Given the description of an element on the screen output the (x, y) to click on. 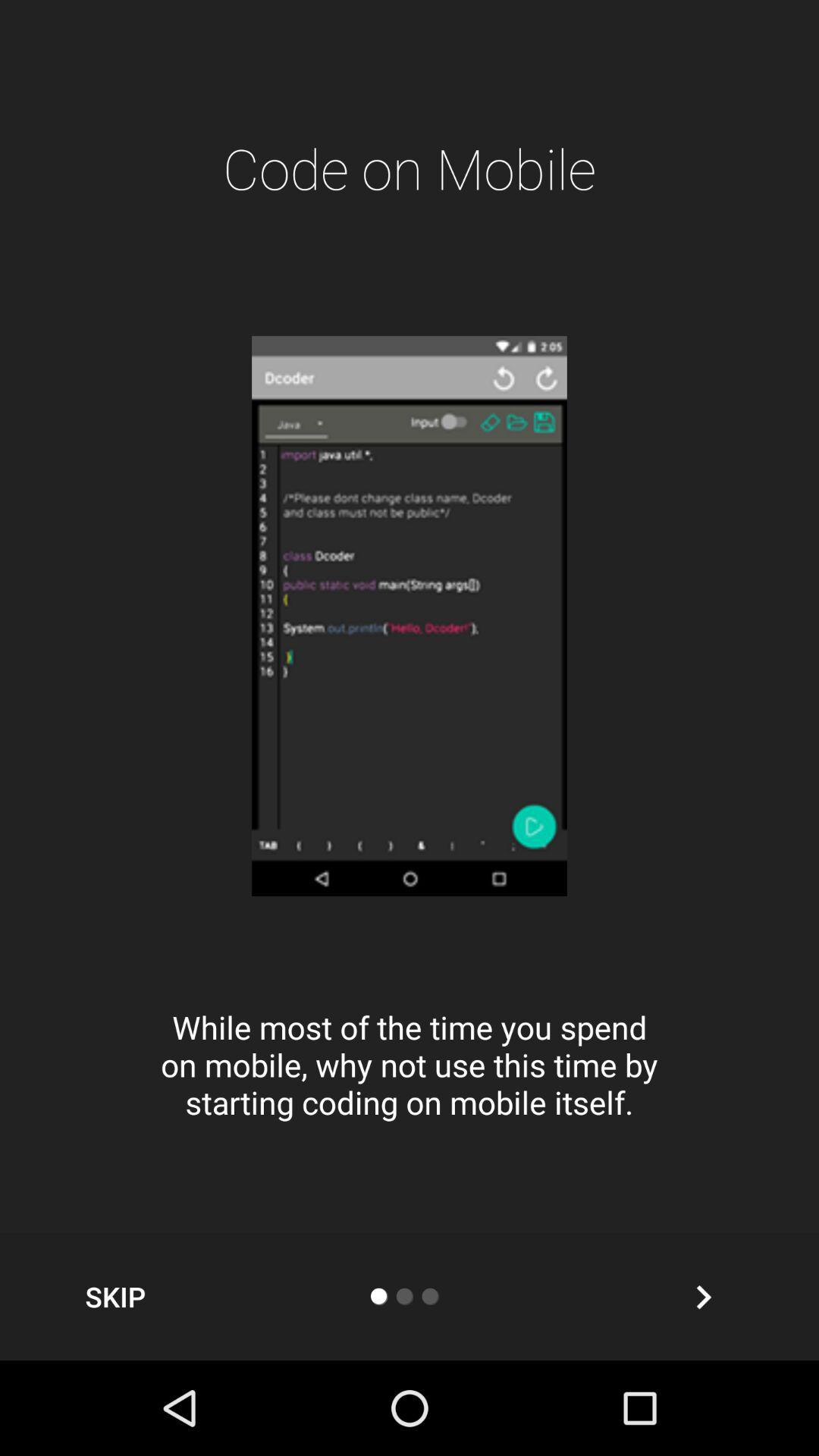
launch skip (114, 1296)
